Given the description of an element on the screen output the (x, y) to click on. 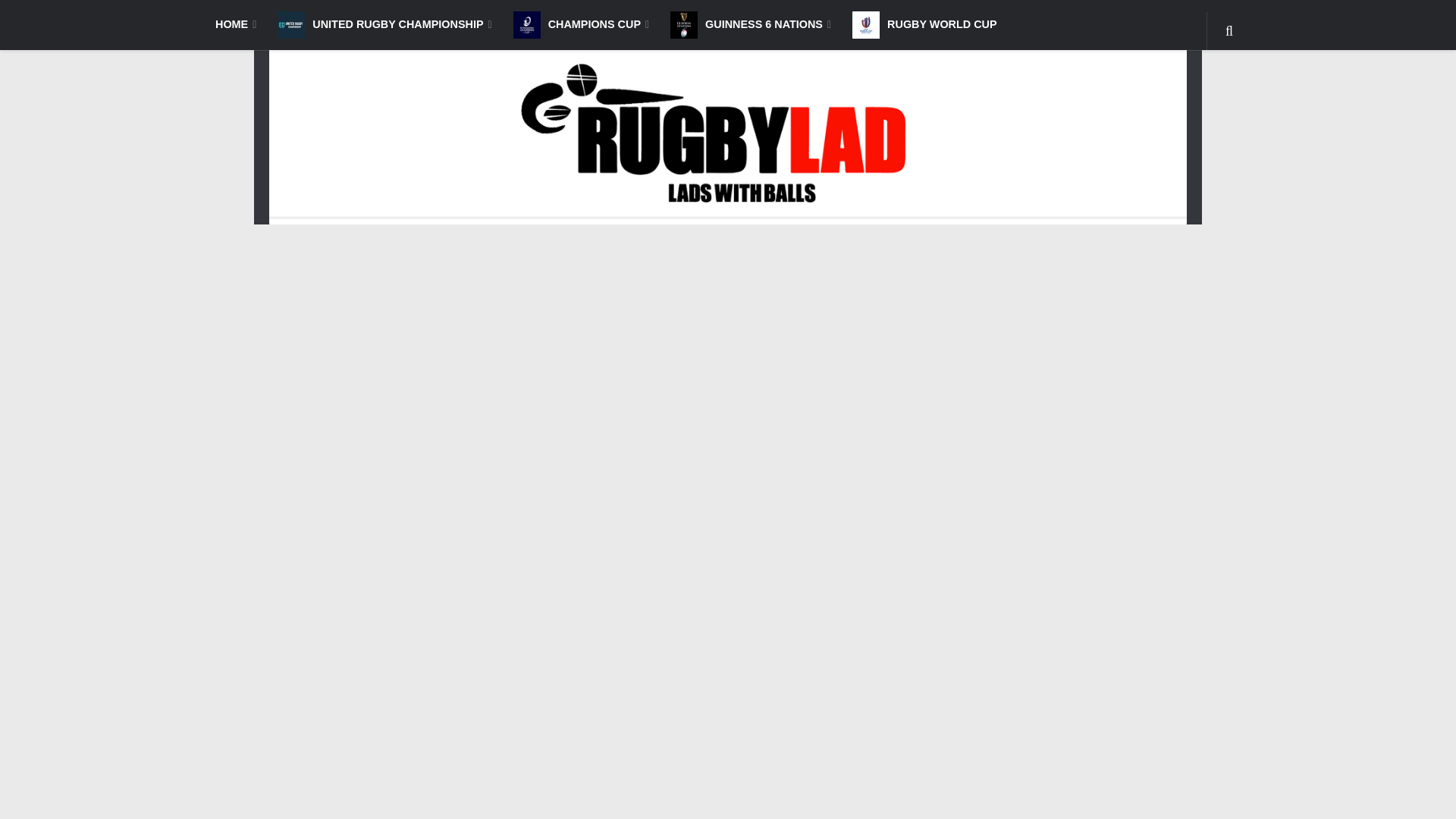
UNITED RUGBY CHAMPIONSHIP (384, 24)
HOME (235, 23)
RUGBY WORLD CUP (924, 24)
GUINNESS 6 NATIONS (750, 24)
CHAMPIONS CUP (580, 24)
